Given the description of an element on the screen output the (x, y) to click on. 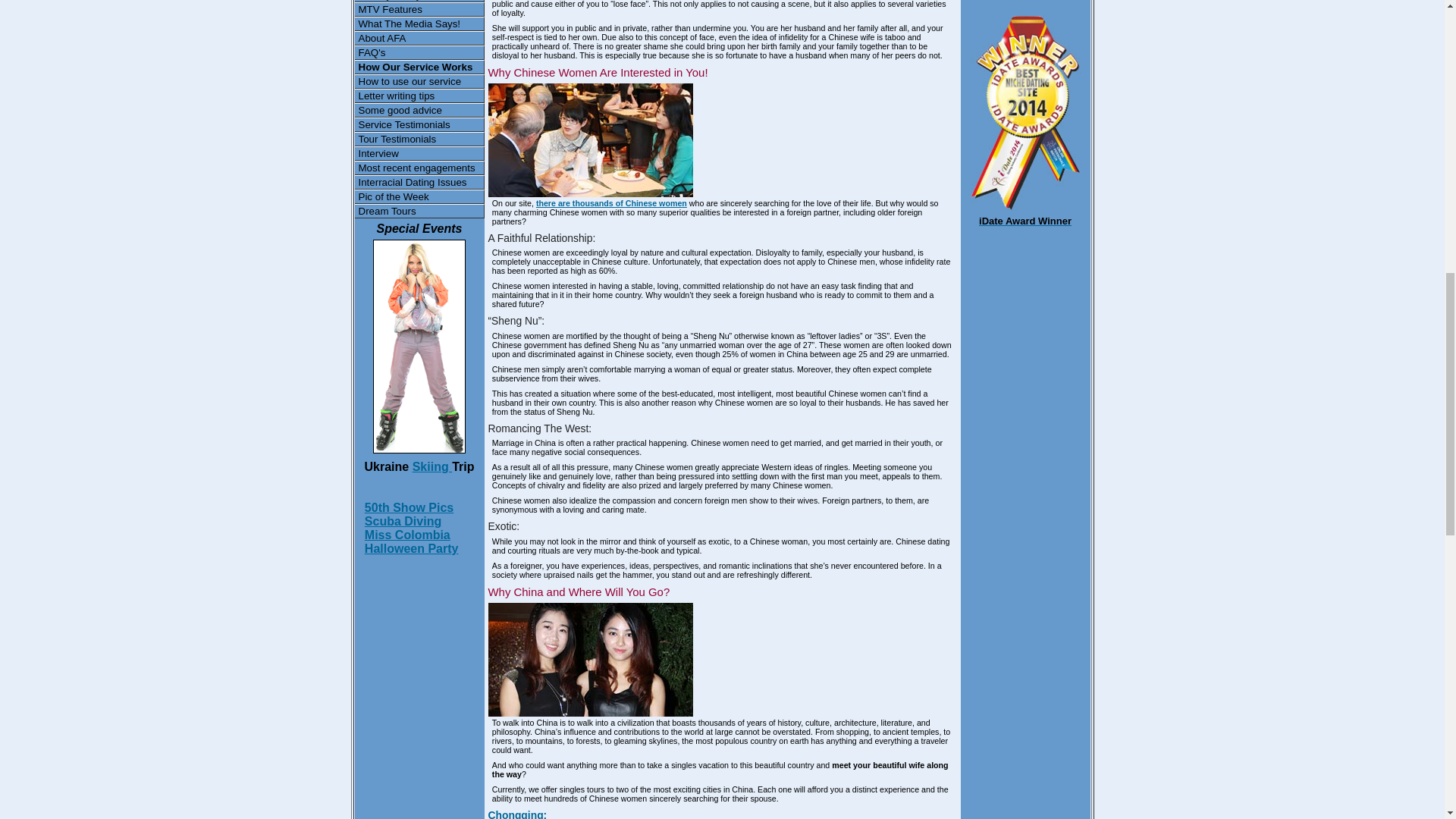
Idate Awards Winner (1025, 205)
Idate Awards Winner (1024, 219)
